Given the description of an element on the screen output the (x, y) to click on. 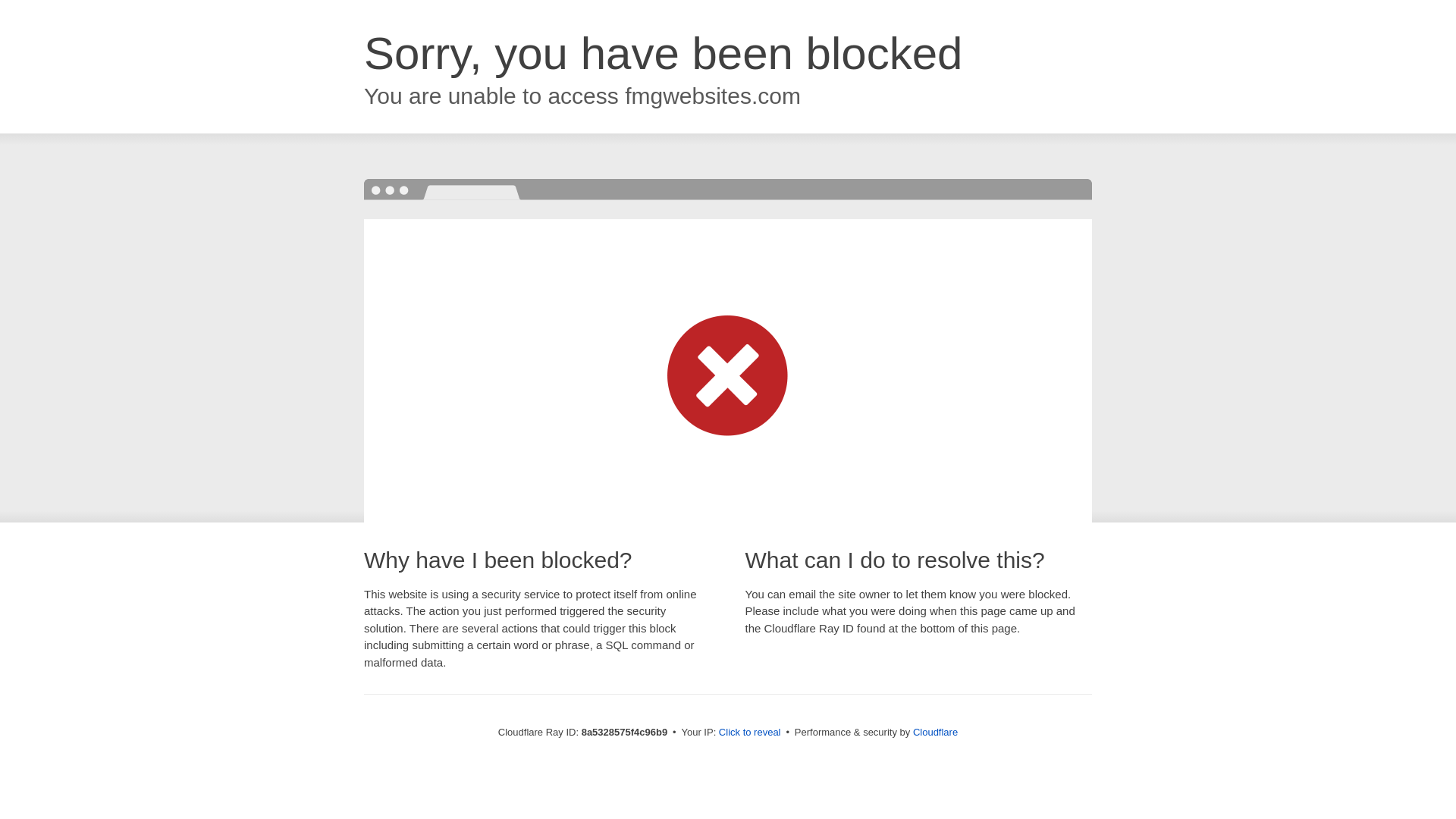
Cloudflare (935, 731)
Click to reveal (749, 732)
